Given the description of an element on the screen output the (x, y) to click on. 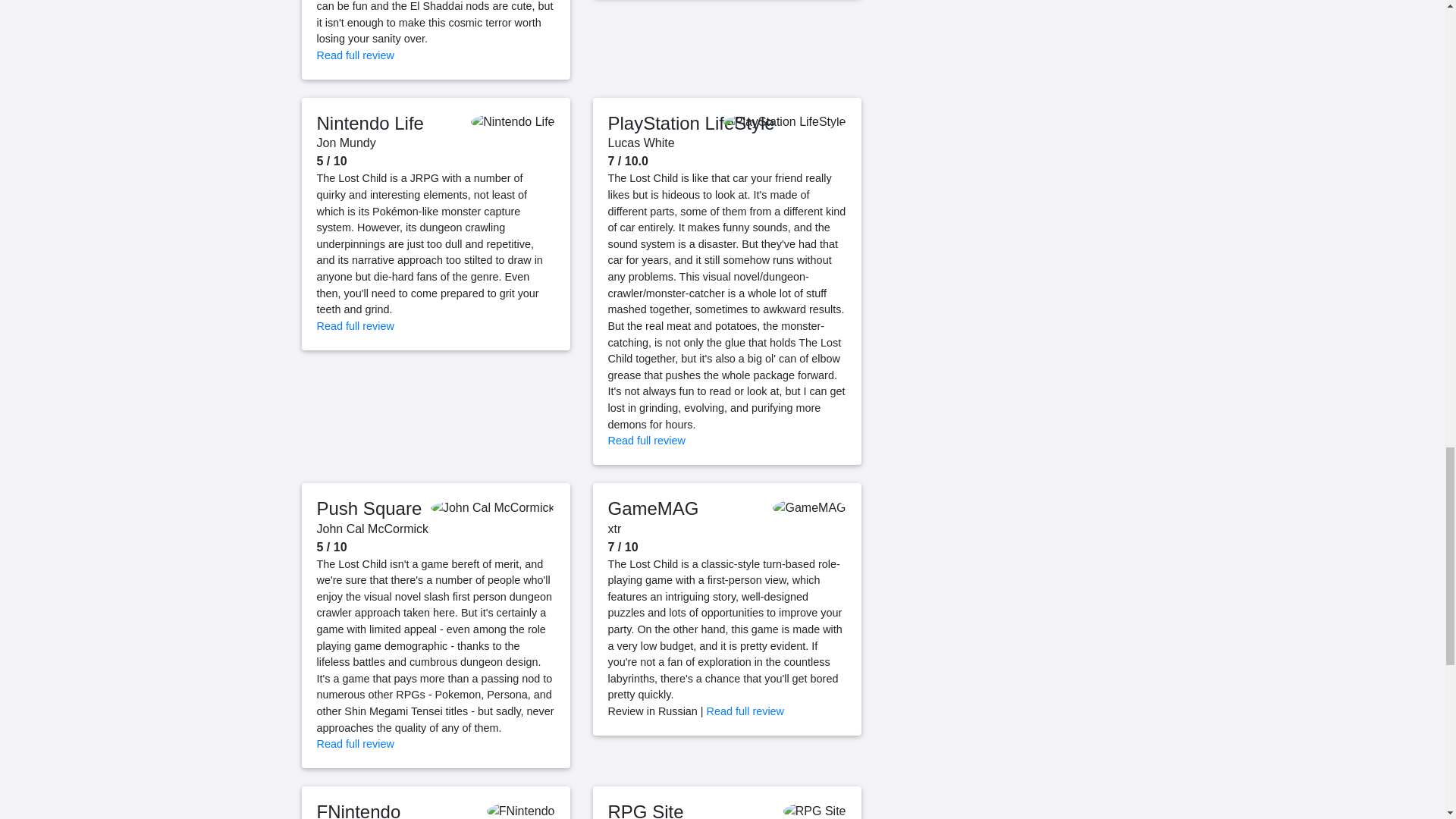
Nintendo Life (370, 123)
Read full review (355, 55)
Jon Mundy (346, 142)
